Given the description of an element on the screen output the (x, y) to click on. 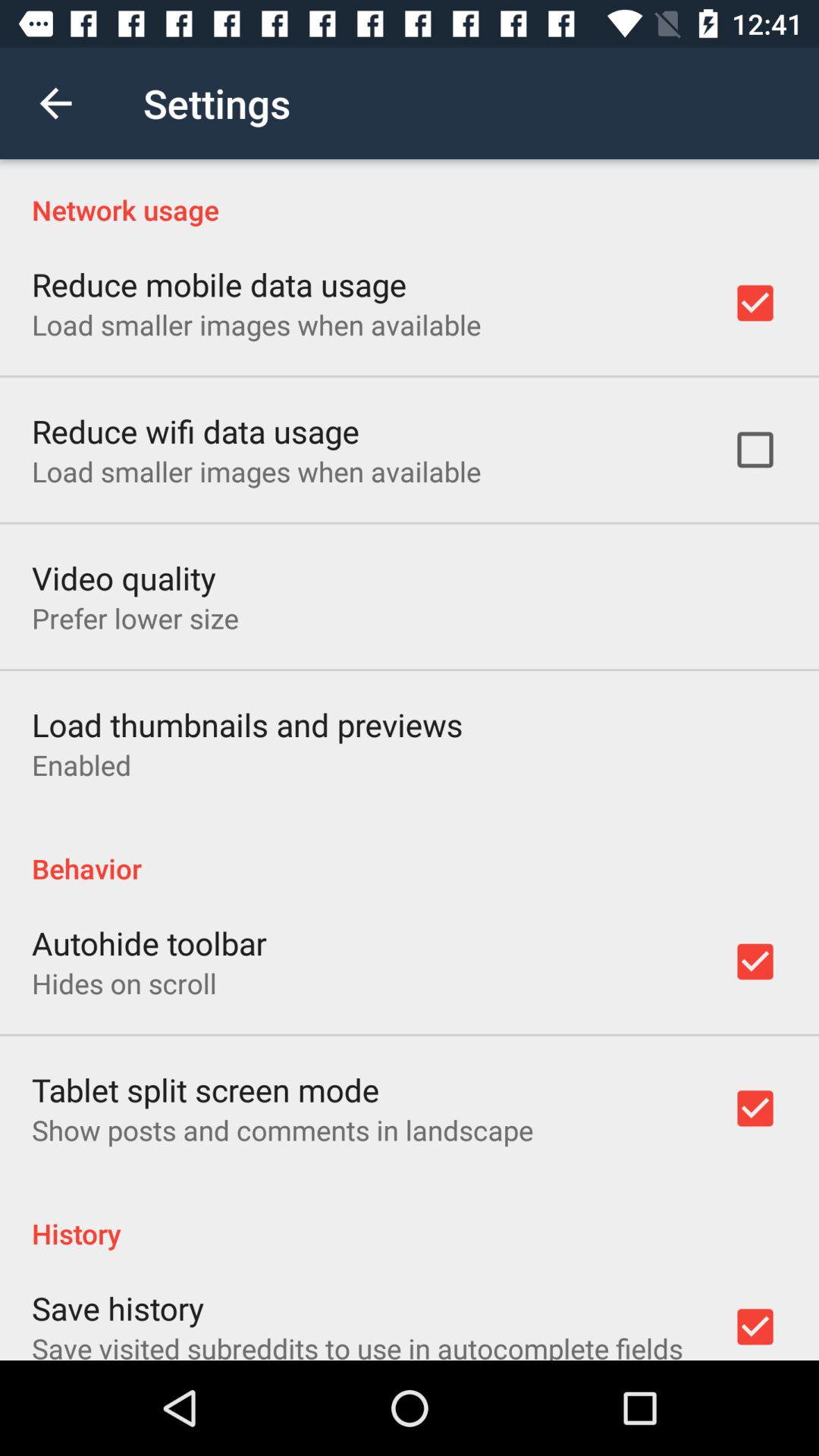
jump until the video quality (123, 577)
